Given the description of an element on the screen output the (x, y) to click on. 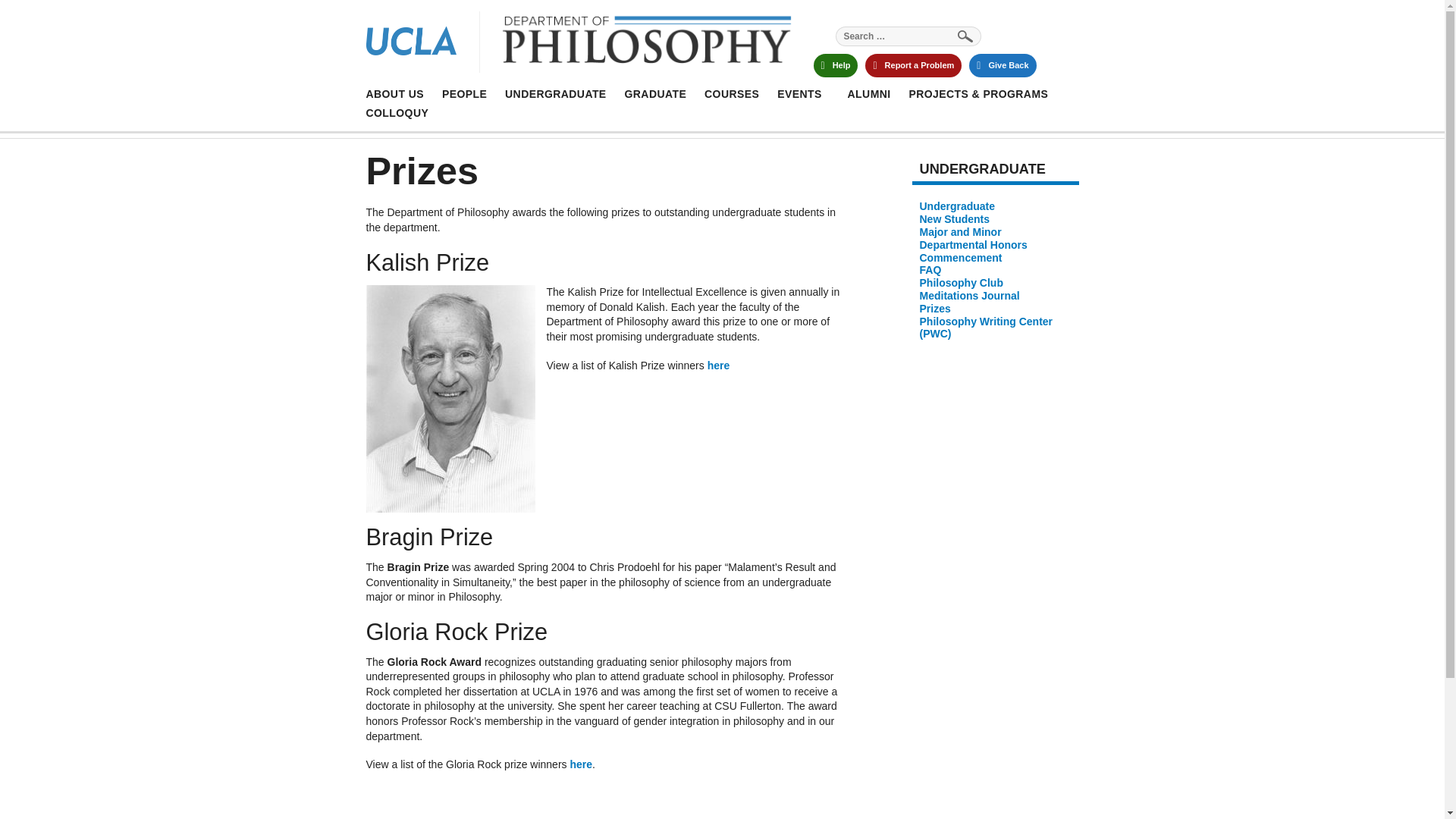
Search for: (908, 35)
COURSES (731, 93)
Give Back (1002, 65)
GRADUATE (588, 43)
PEOPLE (655, 93)
Help (464, 93)
Report a Problem (834, 65)
UNDERGRADUATE (912, 65)
ABOUT US (556, 93)
